Given the description of an element on the screen output the (x, y) to click on. 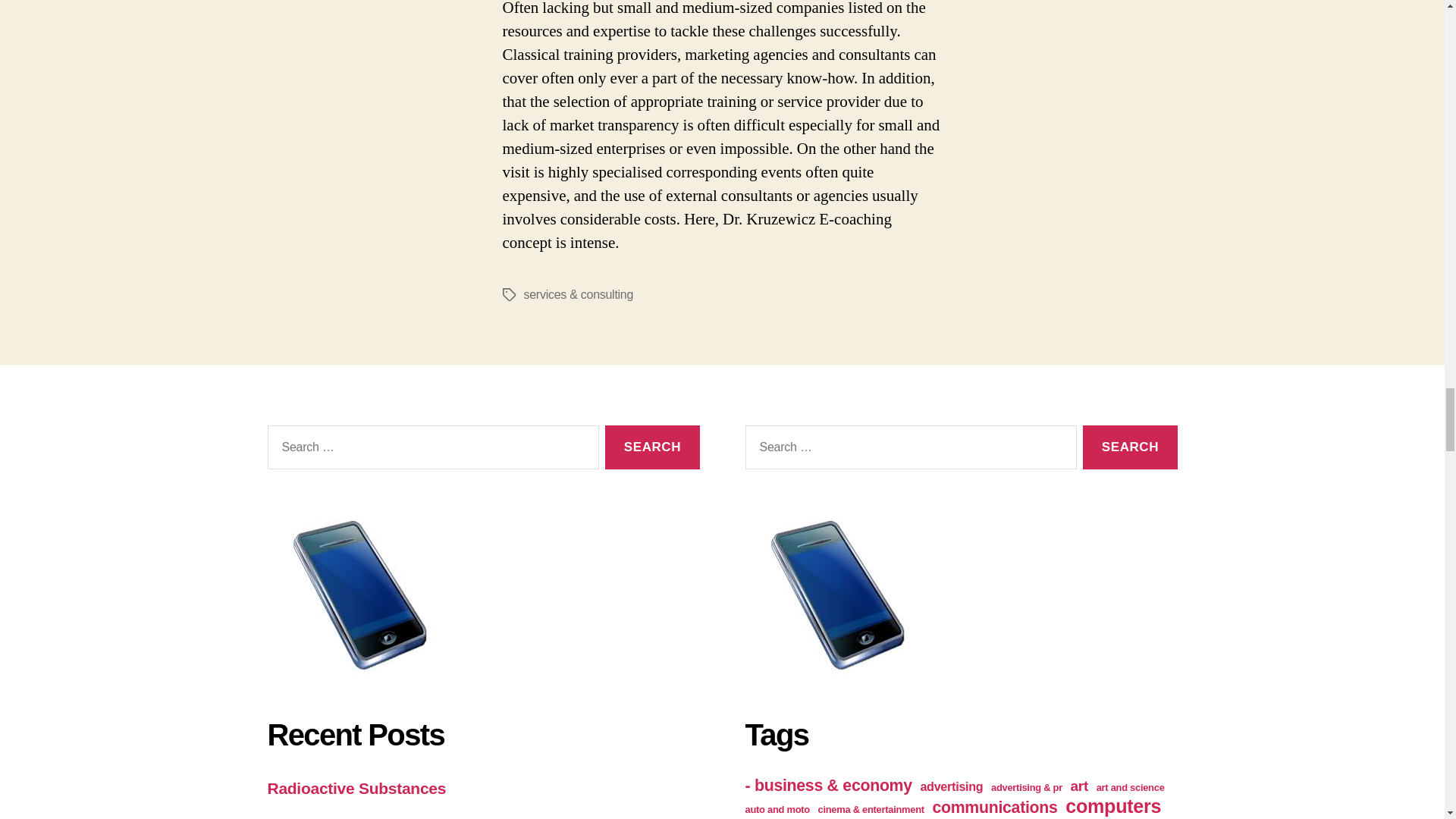
Search (651, 447)
Search (651, 447)
Radioactive Substances (355, 787)
Search (1129, 447)
Search (651, 447)
Search (1129, 447)
